Given the description of an element on the screen output the (x, y) to click on. 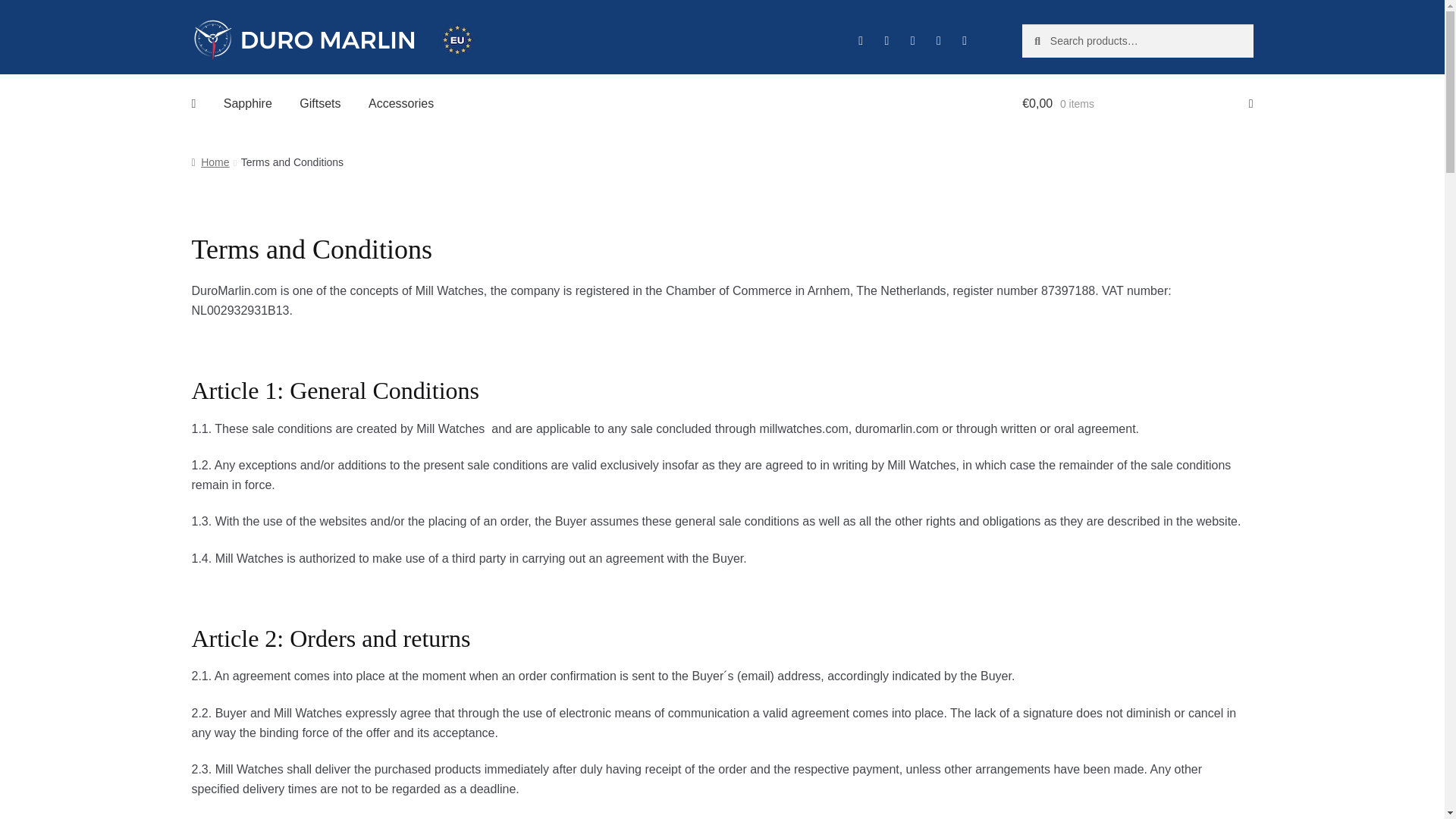
Accessories (400, 103)
Giftsets (319, 103)
Sapphire (247, 103)
View your shopping cart (1137, 103)
Home (209, 162)
